Given the description of an element on the screen output the (x, y) to click on. 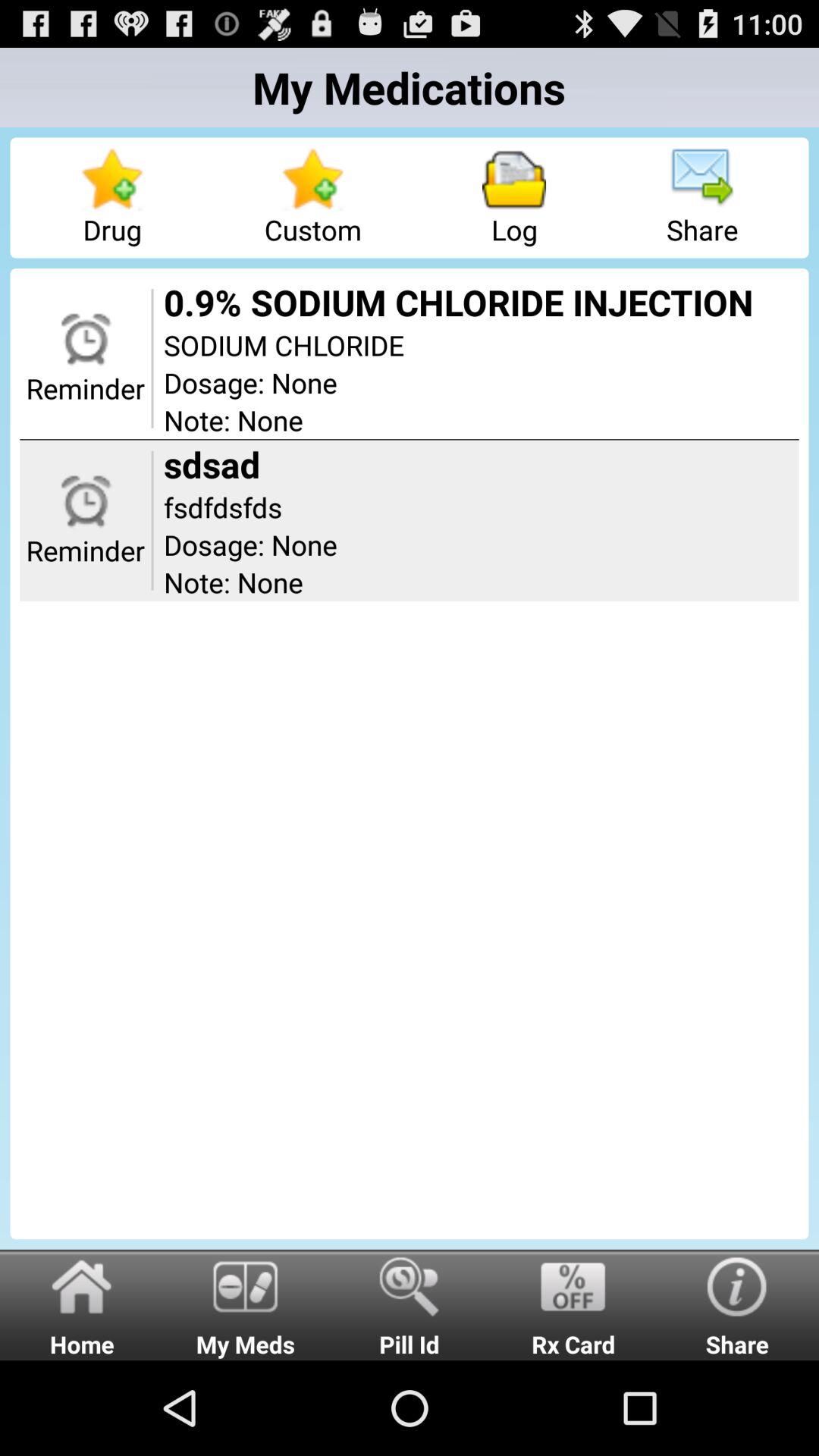
tap my meds radio button (245, 1304)
